Given the description of an element on the screen output the (x, y) to click on. 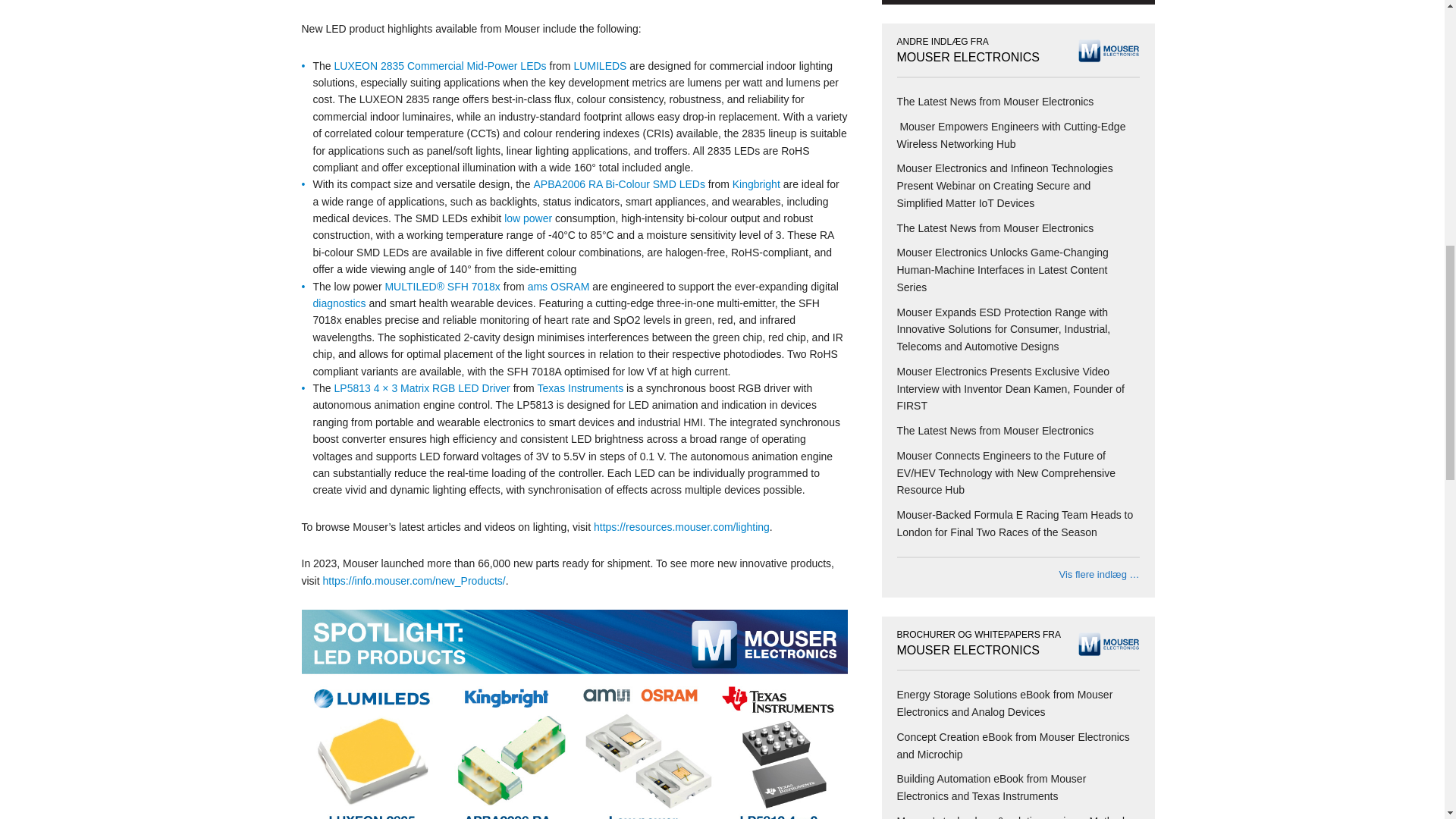
diagnostics (339, 303)
LUMILEDS (599, 65)
low power (527, 218)
APBA2006 RA Bi-Colour SMD LEDs (619, 184)
ams OSRAM (558, 286)
Texas Instruments (580, 387)
LUXEON 2835 Commercial Mid-Power LEDs (440, 65)
Kingbright (756, 184)
